Given the description of an element on the screen output the (x, y) to click on. 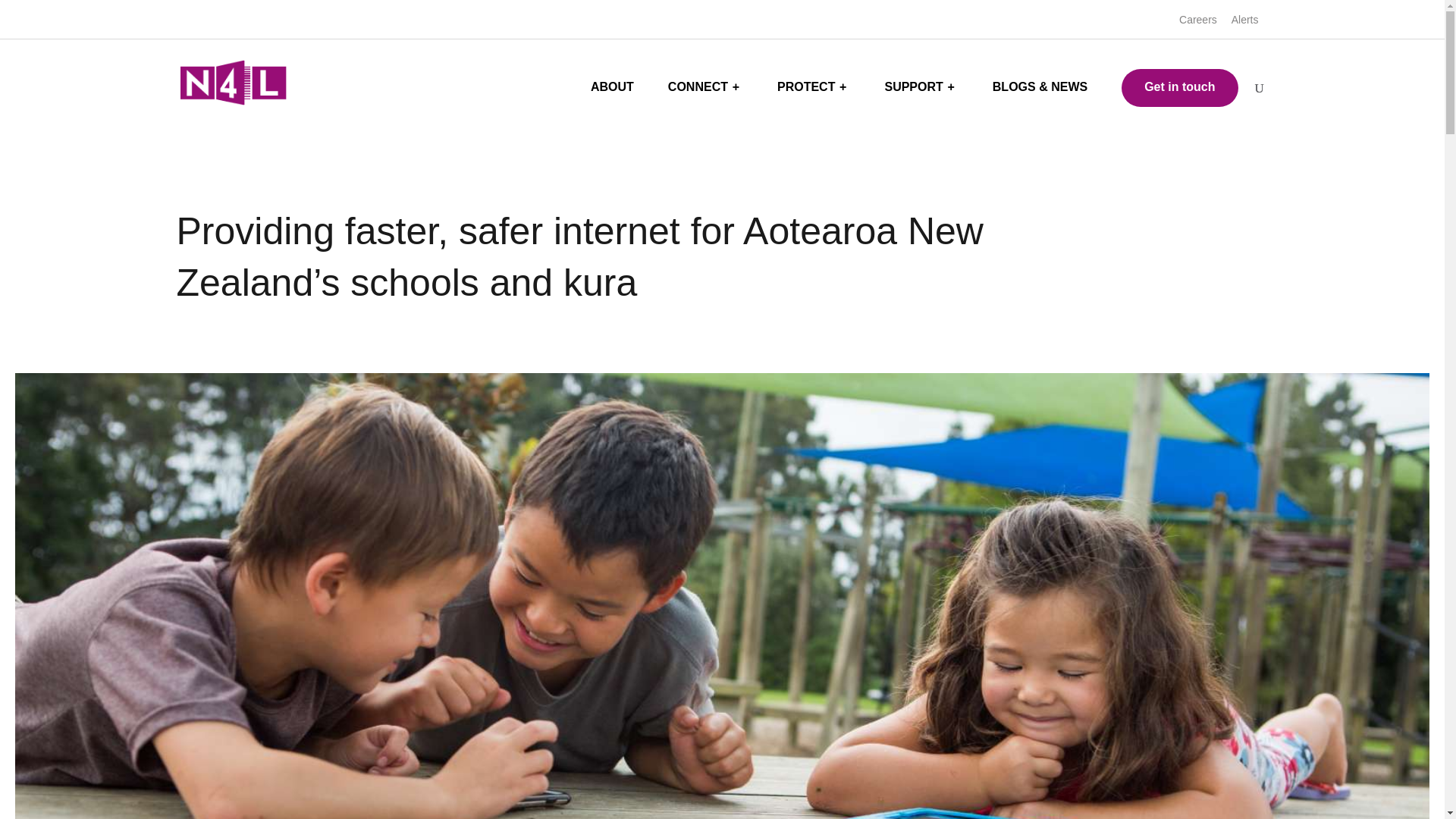
PROTECT (813, 92)
Careers (1198, 23)
ABOUT (612, 92)
SUPPORT (920, 92)
Get in touch (1179, 87)
Alerts (1245, 23)
CONNECT (705, 92)
